Given the description of an element on the screen output the (x, y) to click on. 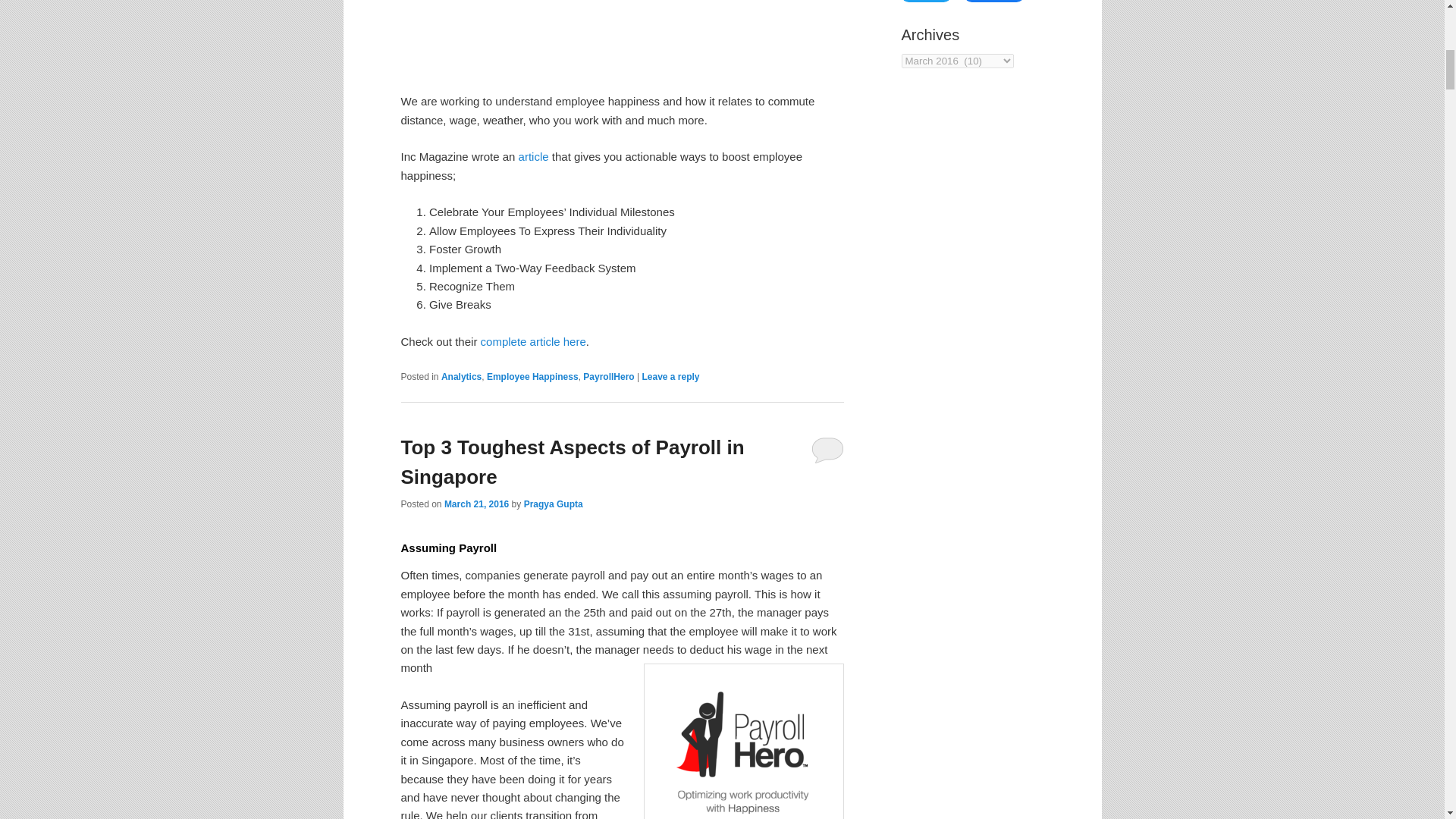
View all posts by Pragya Gupta (553, 503)
March 21, 2016 (476, 503)
PayrollHero (608, 376)
article (533, 155)
Leave a reply (670, 376)
1:44 pm (476, 503)
Top 3 Toughest Aspects of Payroll in Singapore (572, 460)
Pragya Gupta (553, 503)
complete article here (533, 341)
Analytics (461, 376)
Employee Happiness (532, 376)
